Given the description of an element on the screen output the (x, y) to click on. 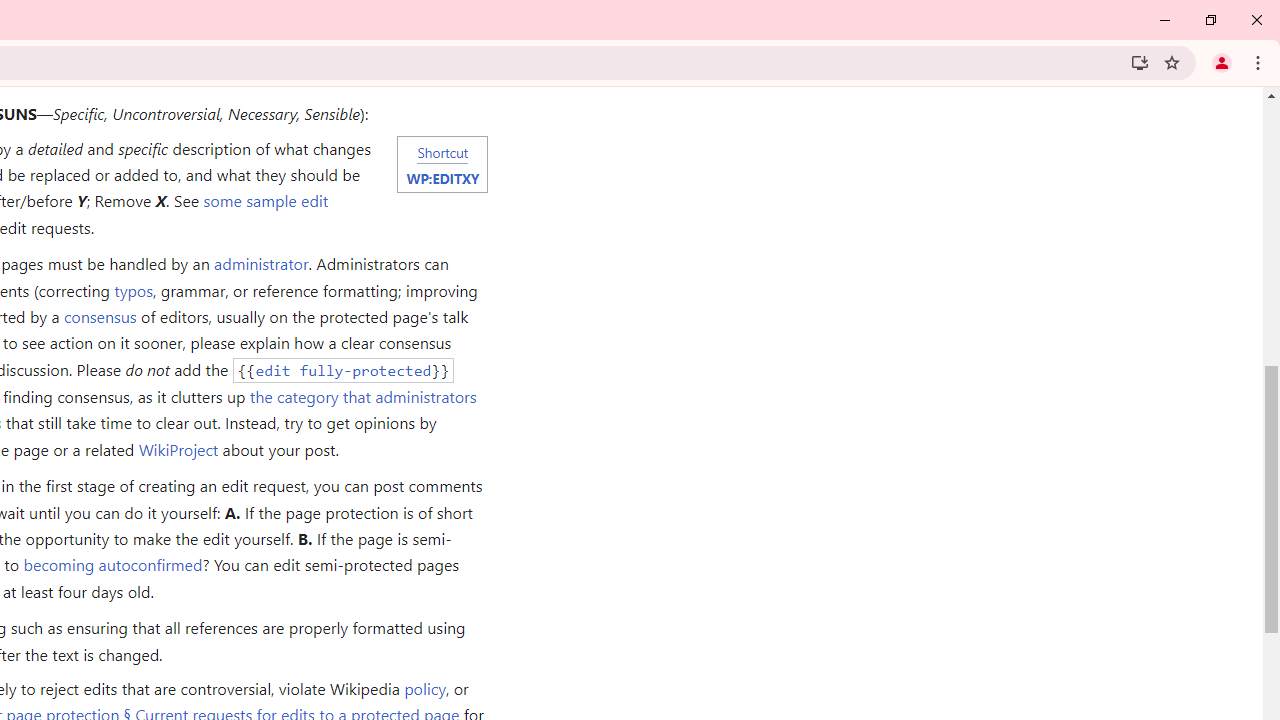
edit fully-protected (343, 370)
Shortcut (442, 151)
becoming autoconfirmed (113, 564)
policy (424, 687)
WP:EDITXY (441, 177)
typos (133, 289)
consensus (99, 315)
Install Wikipedia (1139, 62)
administrator (260, 263)
